Given the description of an element on the screen output the (x, y) to click on. 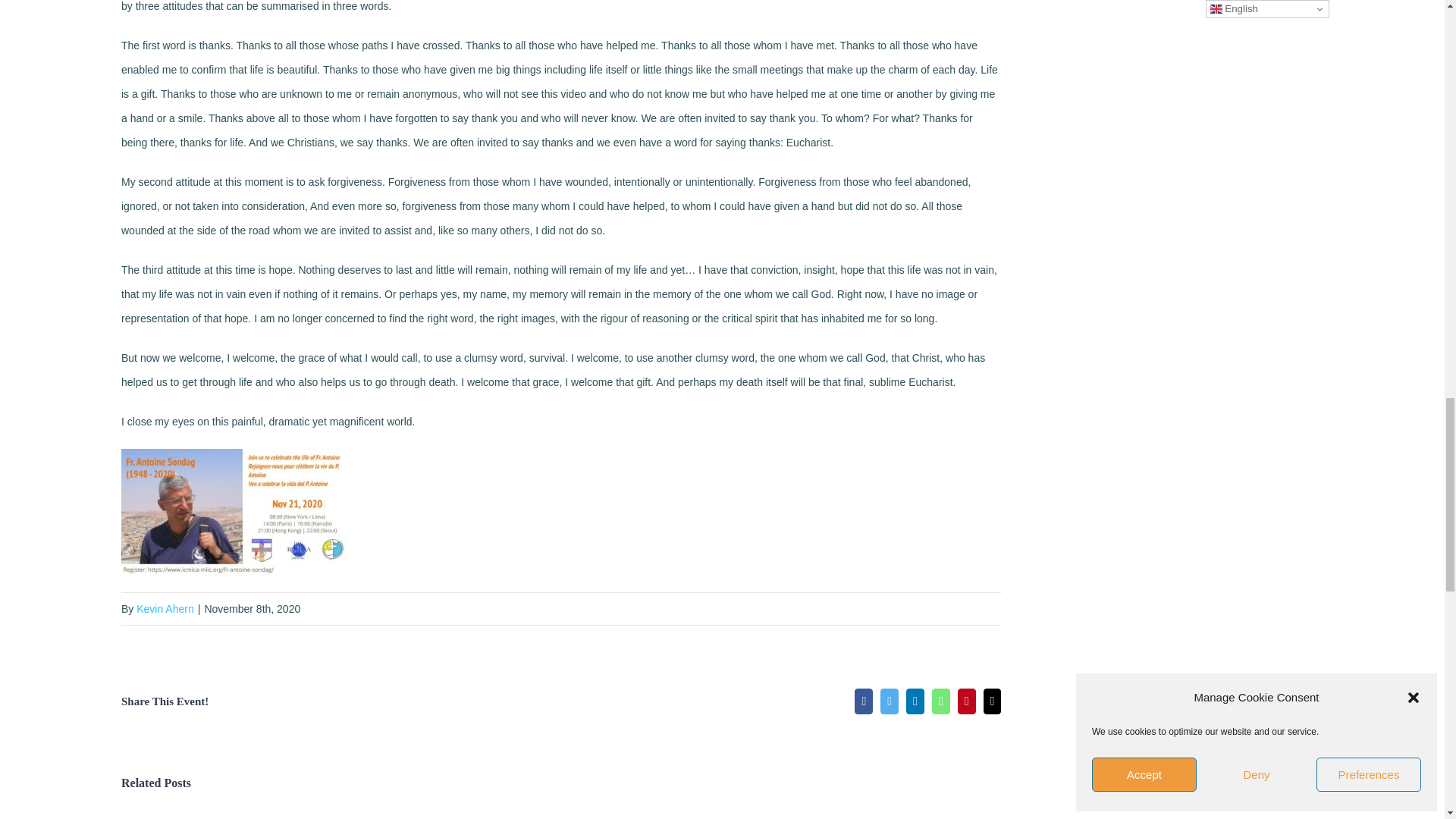
Posts by Kevin Ahern (164, 608)
